Given the description of an element on the screen output the (x, y) to click on. 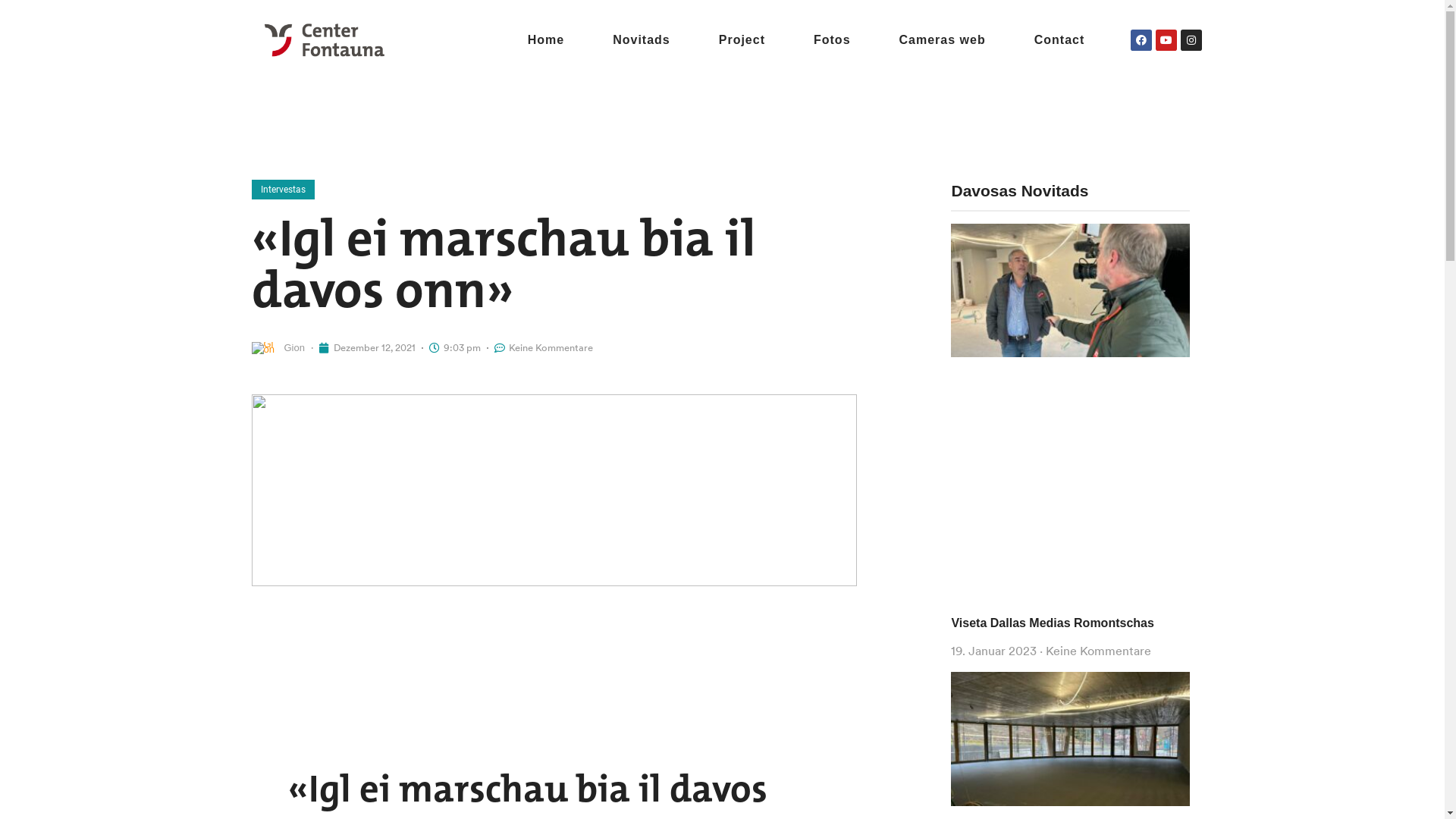
Contact Element type: text (1059, 40)
Fotos Element type: text (832, 40)
Intervestas Element type: text (282, 189)
Home Element type: text (545, 40)
Project Element type: text (741, 40)
Keine Kommentare Element type: text (543, 347)
Dezember 12, 2021 Element type: text (367, 347)
Cameras web Element type: text (942, 40)
Gion Element type: text (277, 348)
Novitads Element type: text (641, 40)
Viseta Dallas Medias Romontschas Element type: text (1051, 621)
